Given the description of an element on the screen output the (x, y) to click on. 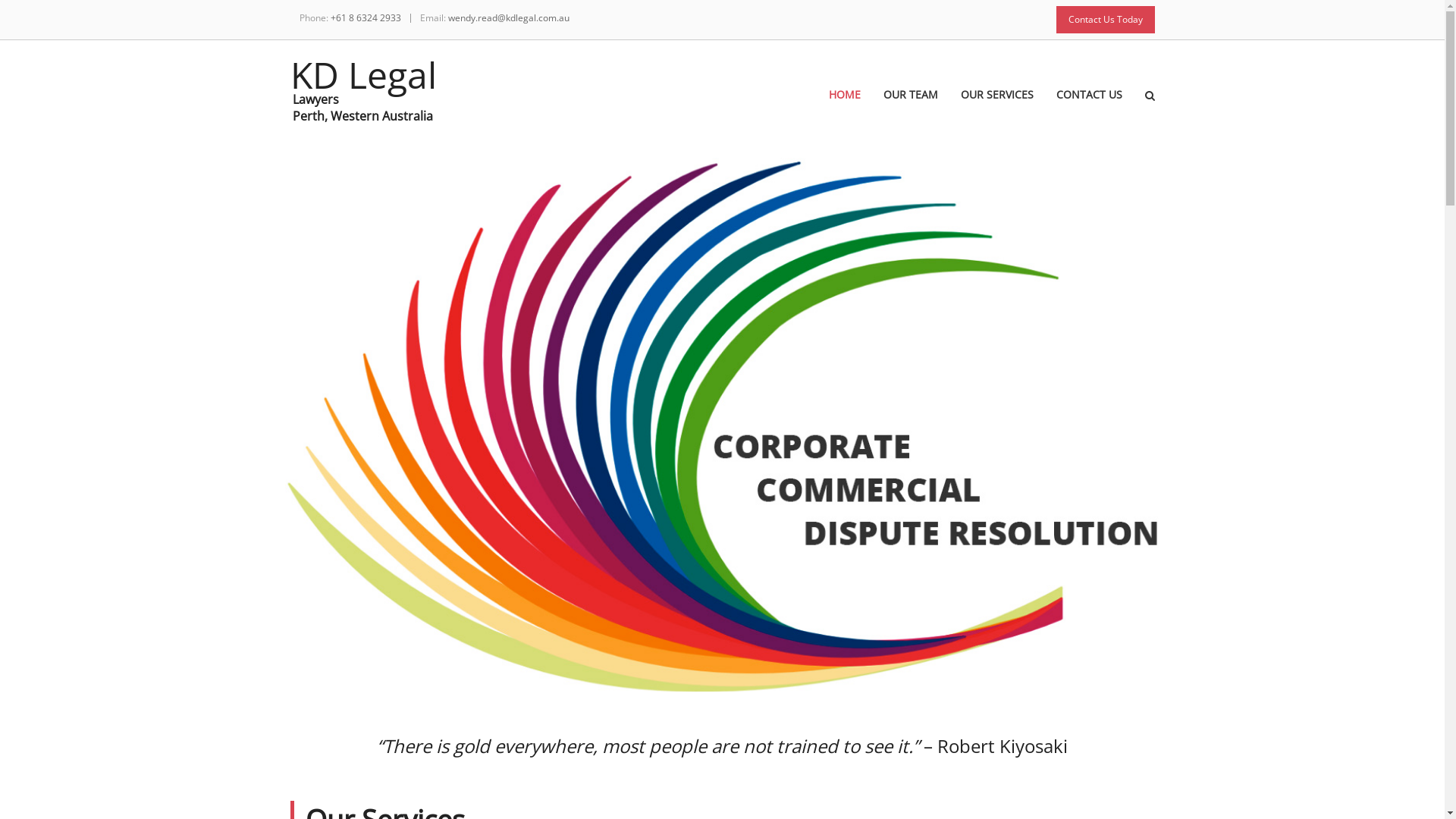
HOME Element type: text (855, 108)
+61 8 6324 2933 Element type: text (365, 17)
OUR TEAM Element type: text (921, 108)
wendy.read@kdlegal.com.au Element type: text (507, 17)
KD Legal
Lawyers
Perth, Western Australia Element type: text (362, 85)
OUR SERVICES Element type: text (1007, 108)
CONTACT US Element type: text (1099, 108)
Contact Us Today Element type: text (1104, 19)
